Given the description of an element on the screen output the (x, y) to click on. 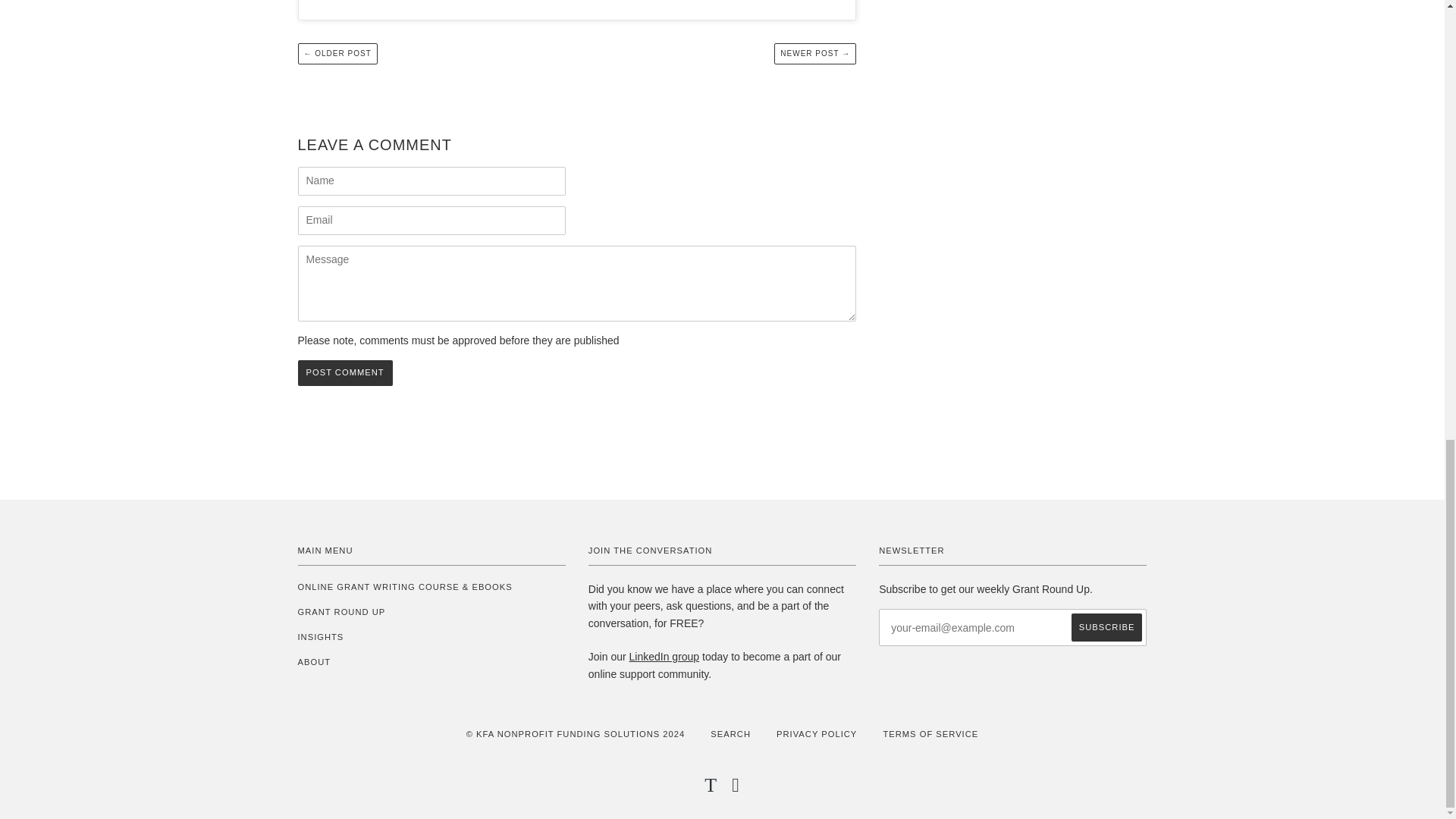
KFA Nonprofit Funding Solutions on Twitter (710, 788)
Post comment (344, 372)
KFA Nonprofit Funding Solutions on Facebook (735, 788)
Subscribe (1106, 627)
Post comment (344, 372)
